Given the description of an element on the screen output the (x, y) to click on. 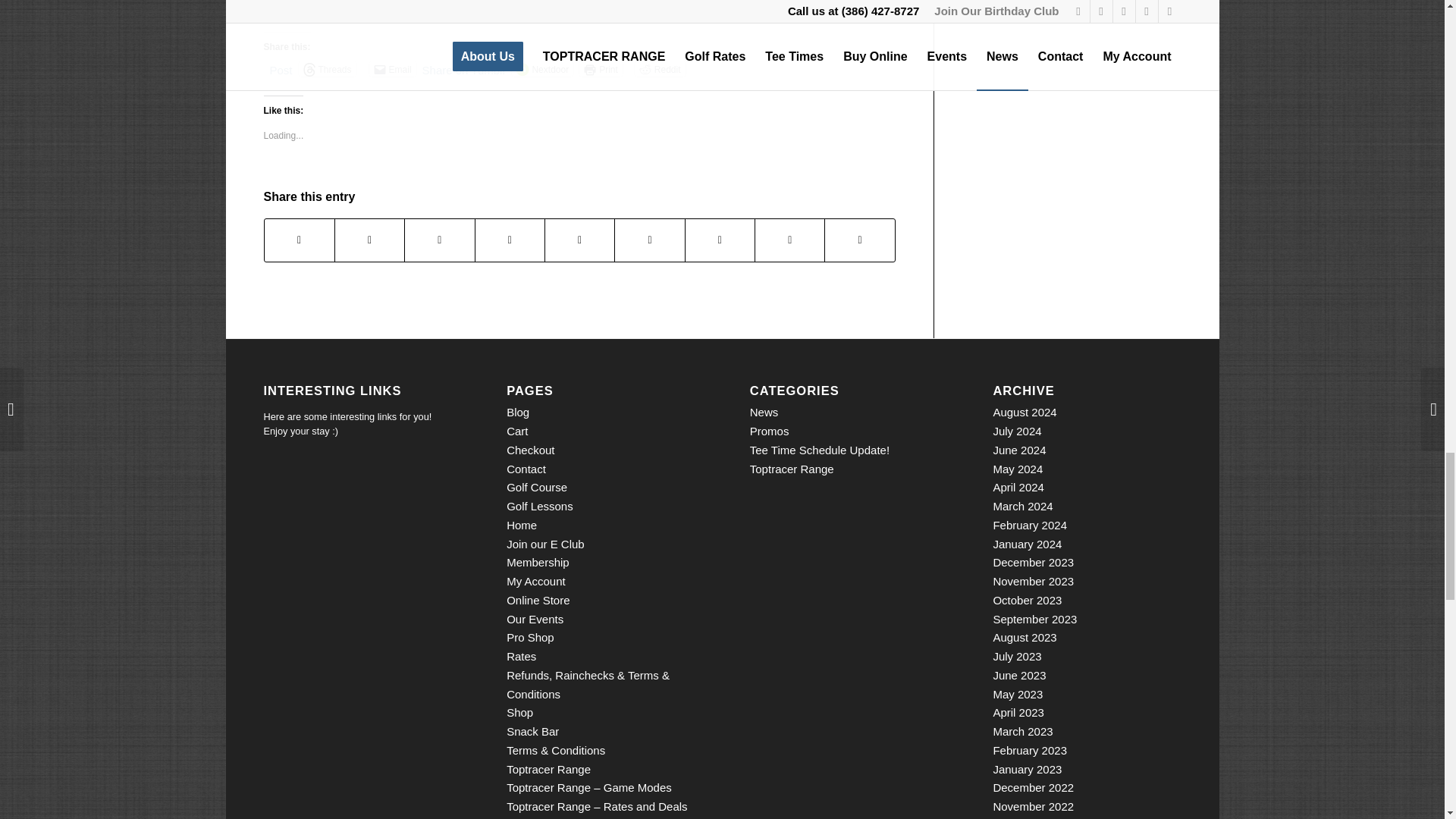
Post (280, 68)
Share on Tumblr (464, 68)
Click to email a link to a friend (392, 68)
Click to share on Threads (327, 68)
